Given the description of an element on the screen output the (x, y) to click on. 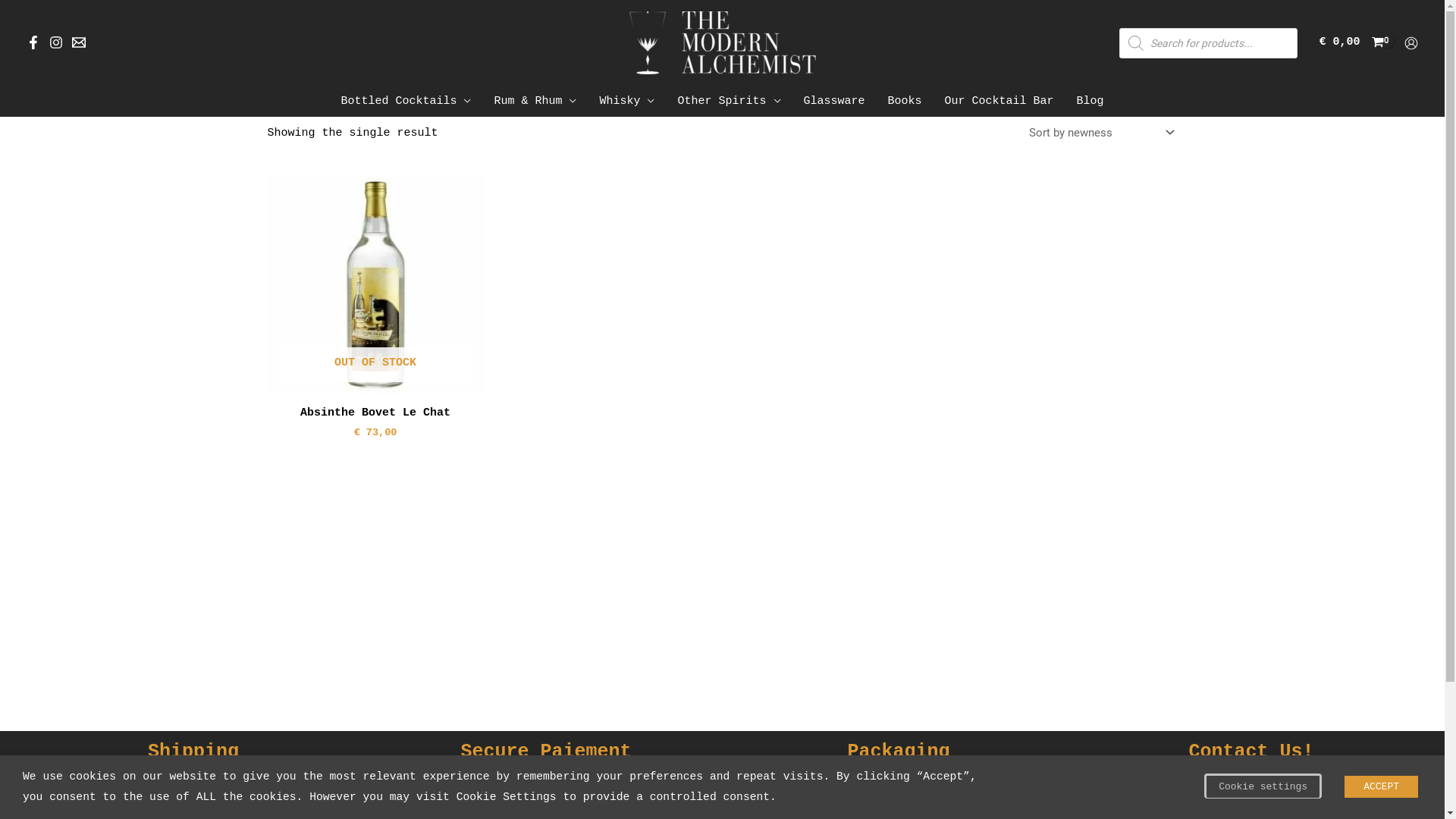
Cookie settings Element type: text (1262, 785)
Rum & Rhum Element type: text (534, 100)
Mollie Element type: text (665, 796)
Our Cocktail Bar Element type: text (999, 100)
Books Element type: text (904, 100)
ACCEPT Element type: text (1381, 786)
Log In Element type: text (685, 622)
Blog Element type: text (1090, 100)
Bottled Cocktails Element type: text (405, 100)
Other Spirits Element type: text (728, 100)
Glassware Element type: text (833, 100)
OUT OF STOCK Element type: text (374, 285)
55 avenue Adolphe Demeur, Element type: text (1250, 796)
Whisky Element type: text (626, 100)
Absinthe Bovet Le Chat Element type: text (375, 414)
PayPal Element type: text (589, 796)
